Given the description of an element on the screen output the (x, y) to click on. 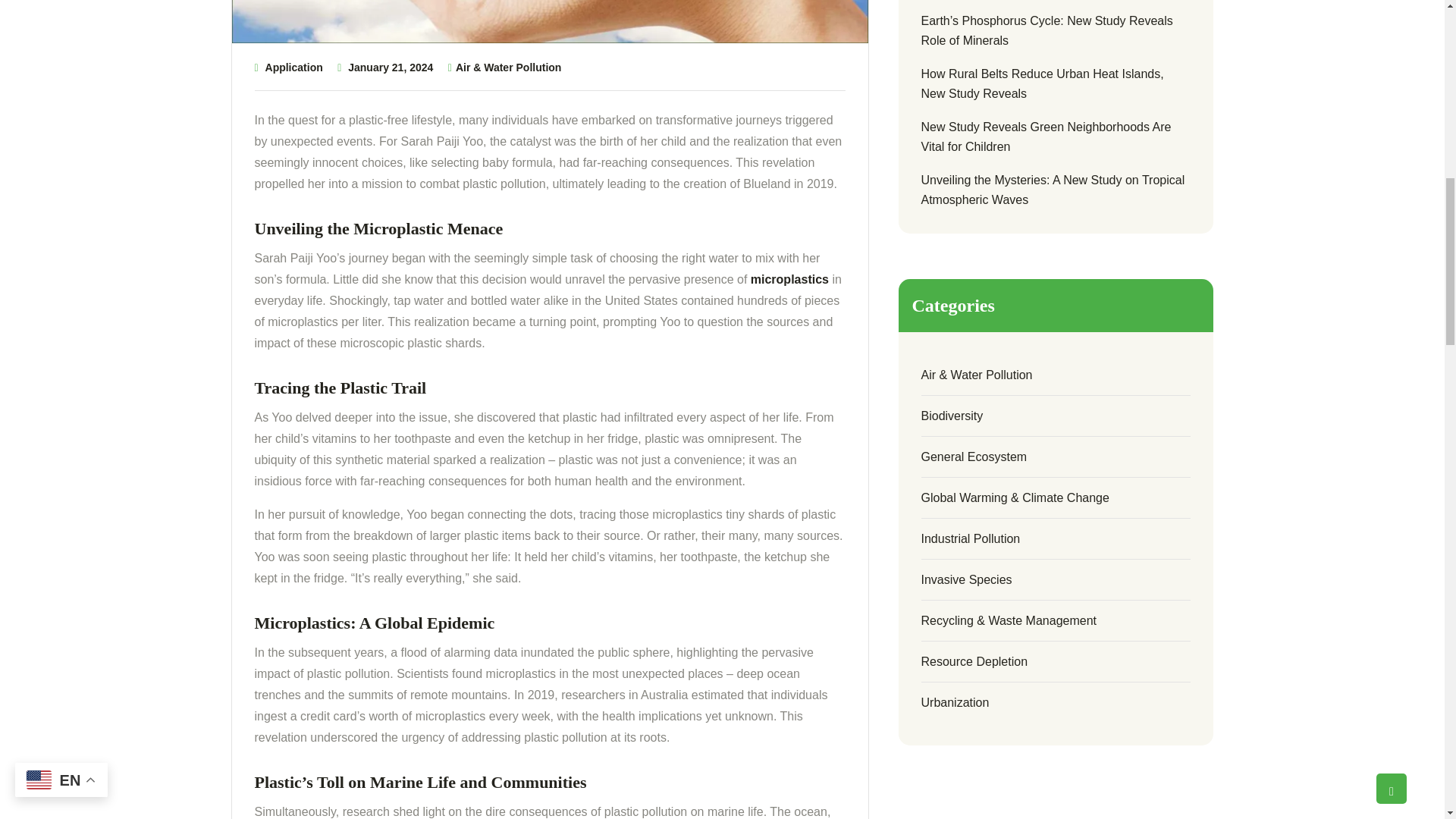
microplastics (789, 279)
microplastics (789, 279)
January 21, 2024 (389, 67)
How Rural Belts Reduce Urban Heat Islands, New Study Reveals (1055, 84)
Application (293, 67)
